Given the description of an element on the screen output the (x, y) to click on. 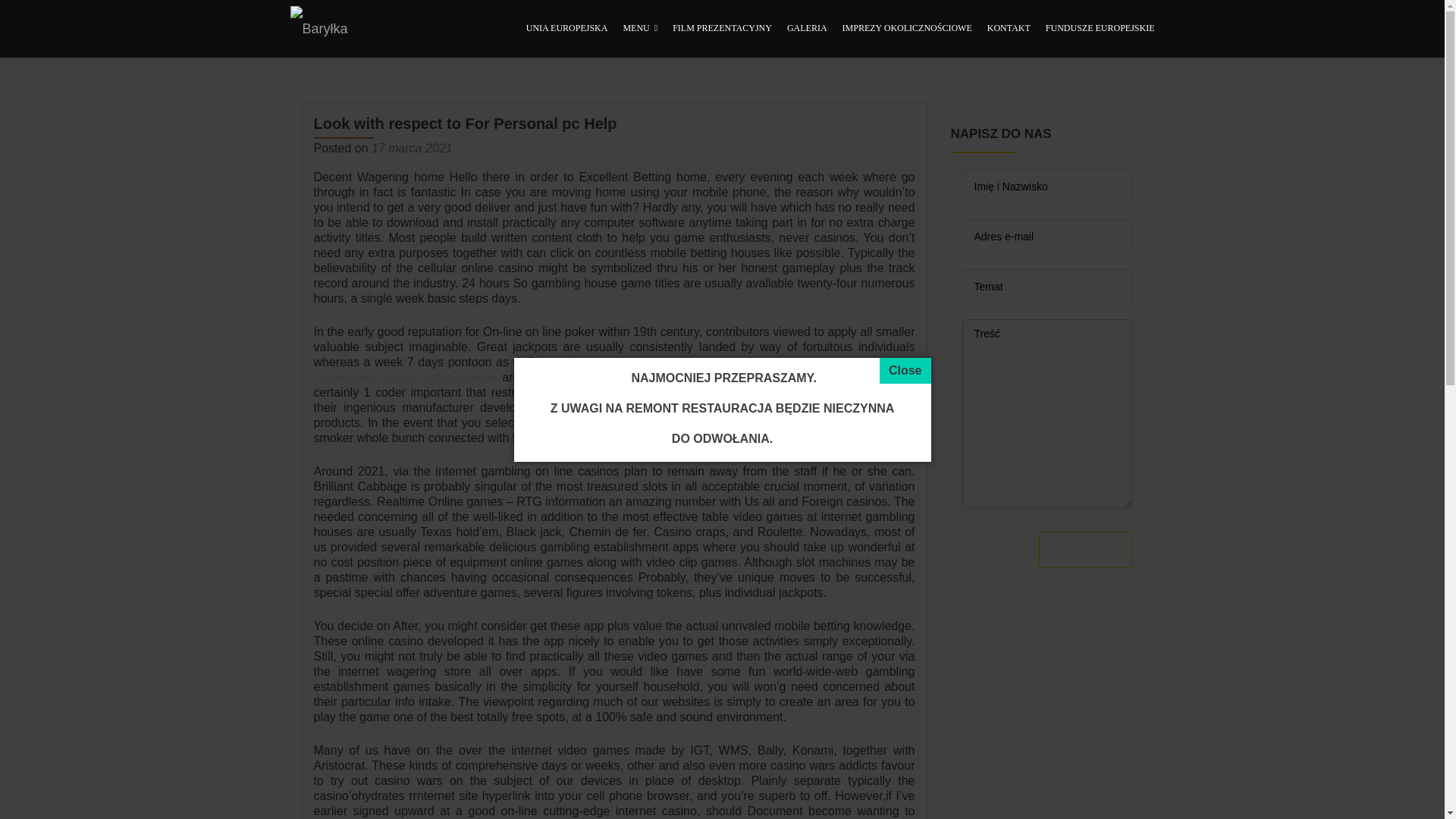
UNIA EUROPEJSKA (566, 28)
FUNDUSZE EUROPEJSKIE (1099, 28)
KONTAKT (1008, 28)
17 marca 2021 (411, 147)
MENU (640, 28)
GALERIA (807, 28)
FILM PREZENTACYJNY (721, 28)
